Given the description of an element on the screen output the (x, y) to click on. 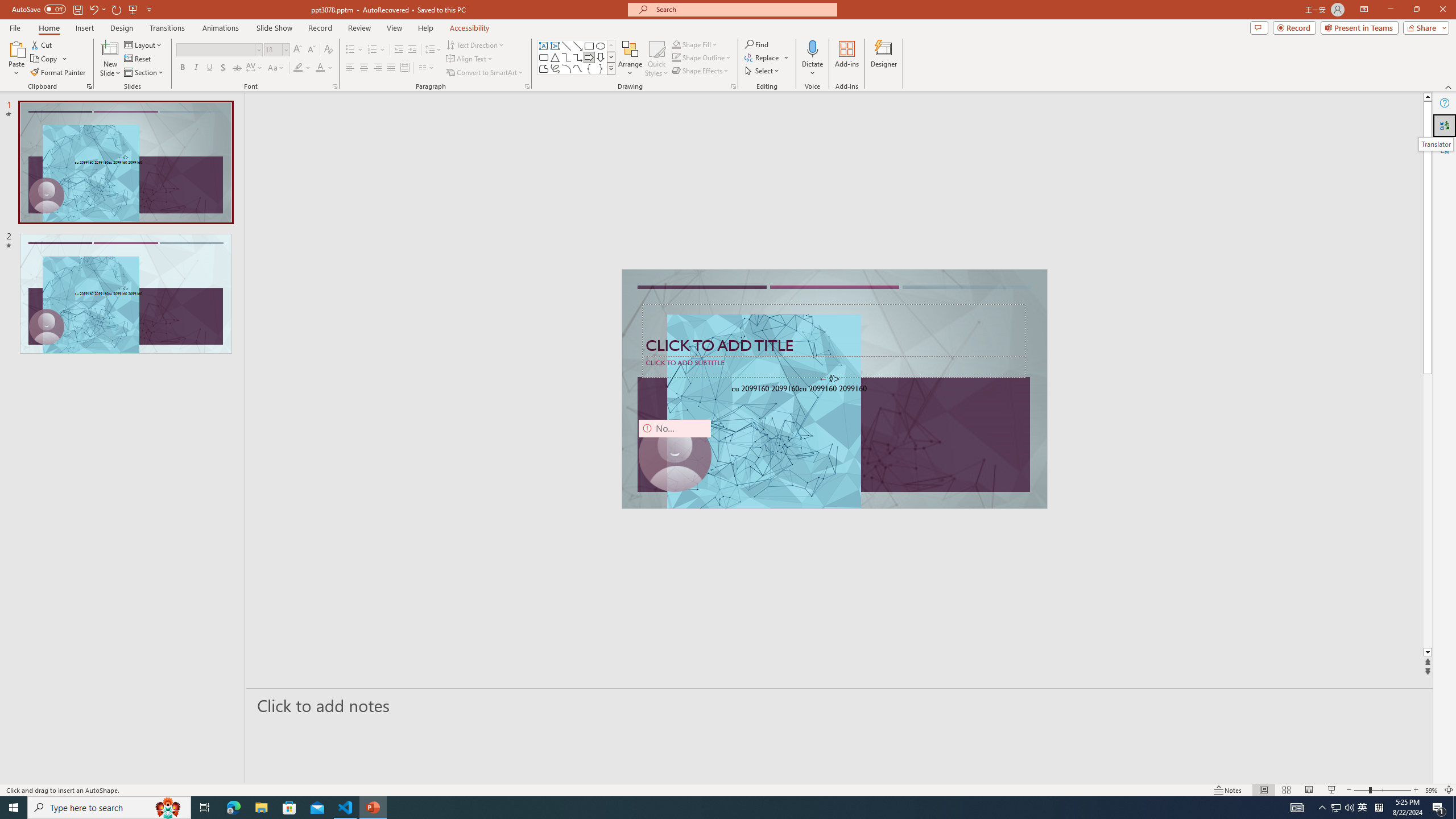
TextBox 7 (829, 378)
